Given the description of an element on the screen output the (x, y) to click on. 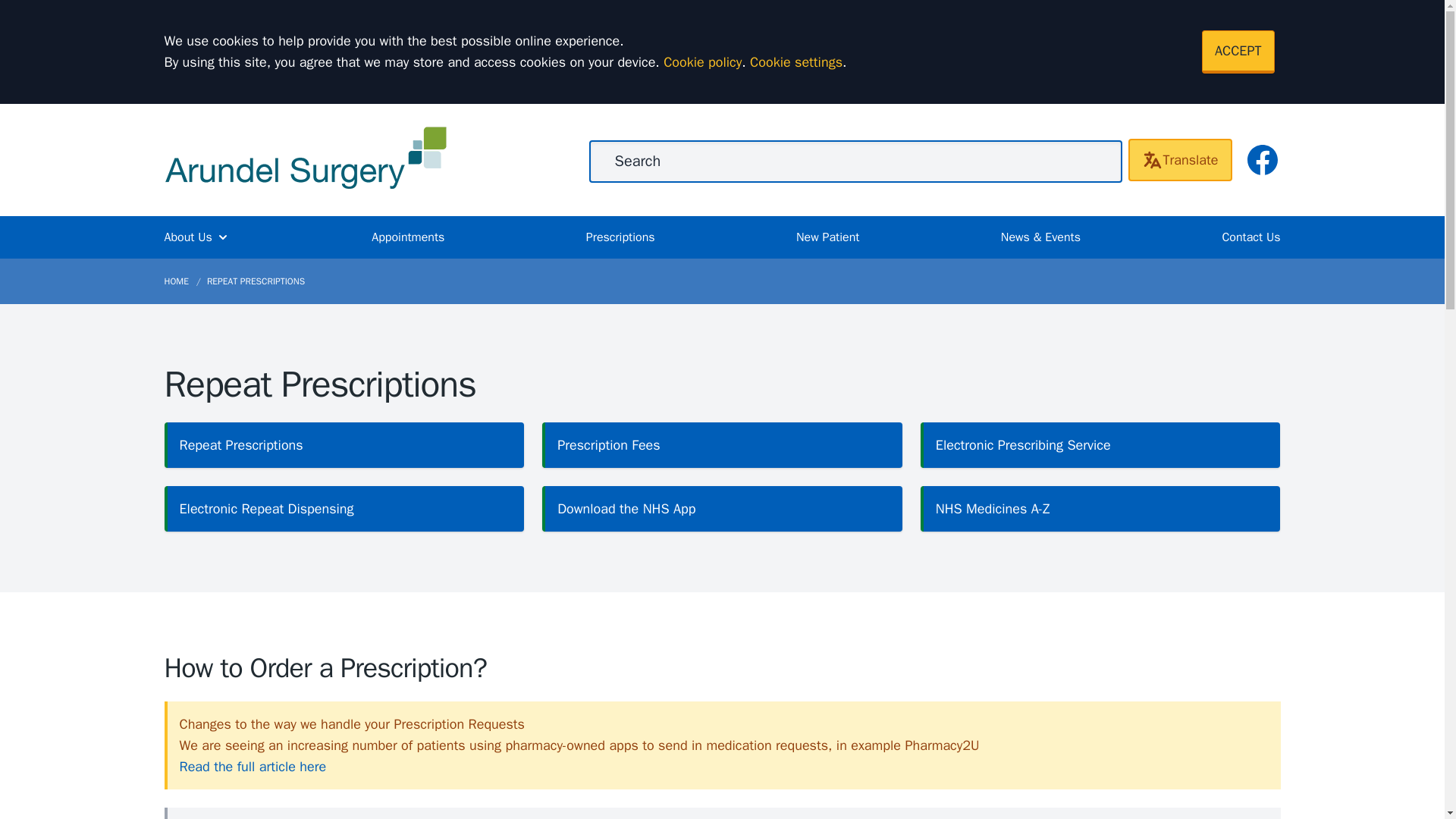
Download the NHS App (721, 508)
ACCEPT (1238, 51)
Cookie policy (702, 62)
Download the NHS App (721, 508)
Prescriptions (620, 237)
Prescription Fees (721, 444)
Electronic Repeat Dispensing (343, 508)
Contact Us (1250, 237)
Appointments (407, 237)
Facebook (1261, 159)
